Given the description of an element on the screen output the (x, y) to click on. 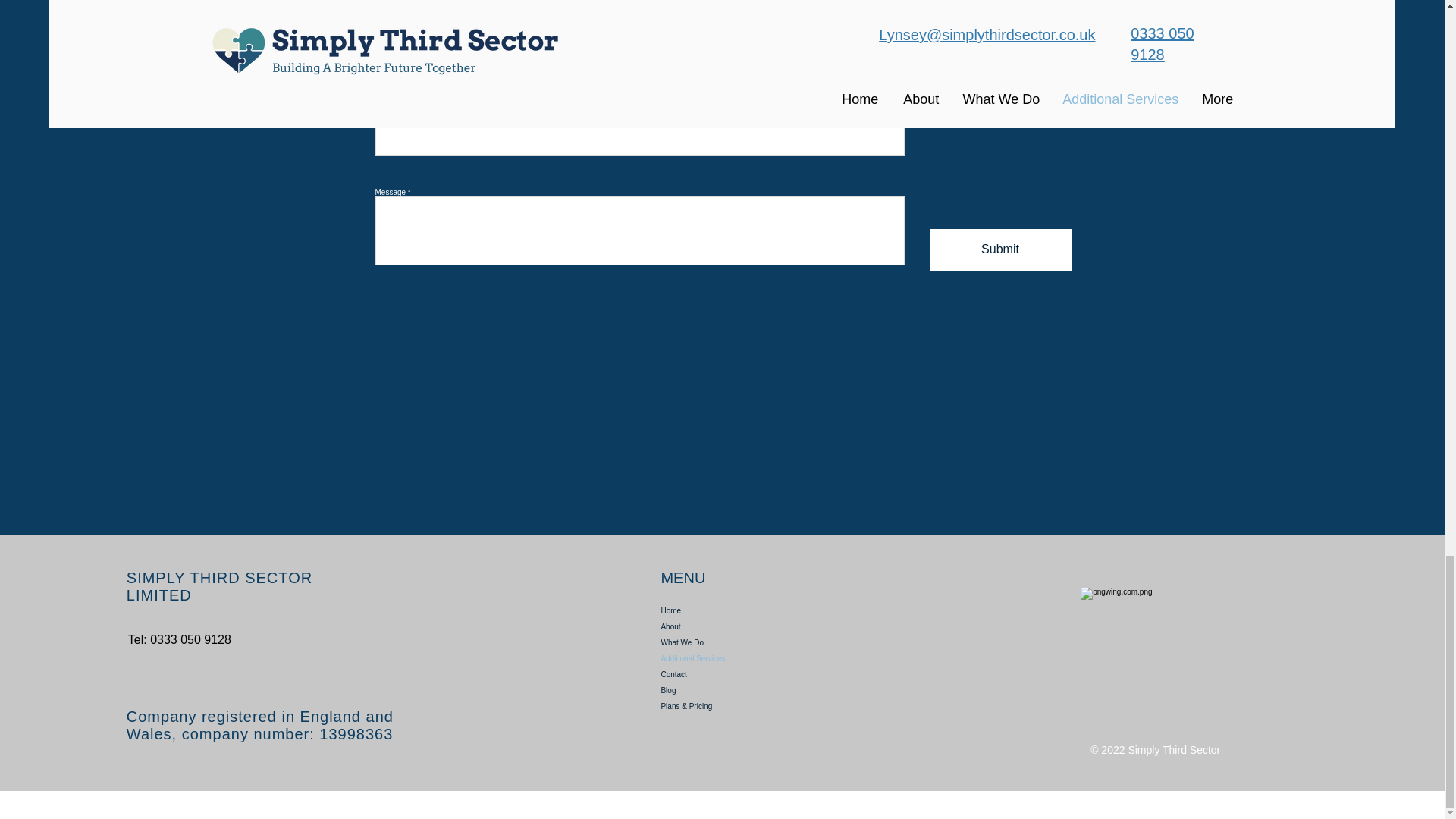
Blog (731, 690)
About (731, 626)
Submit (1000, 250)
Contact (731, 674)
Home (731, 610)
SIMPLY THIRD SECTOR LIMITED (219, 586)
What We Do (731, 642)
Additional Services (731, 658)
